Given the description of an element on the screen output the (x, y) to click on. 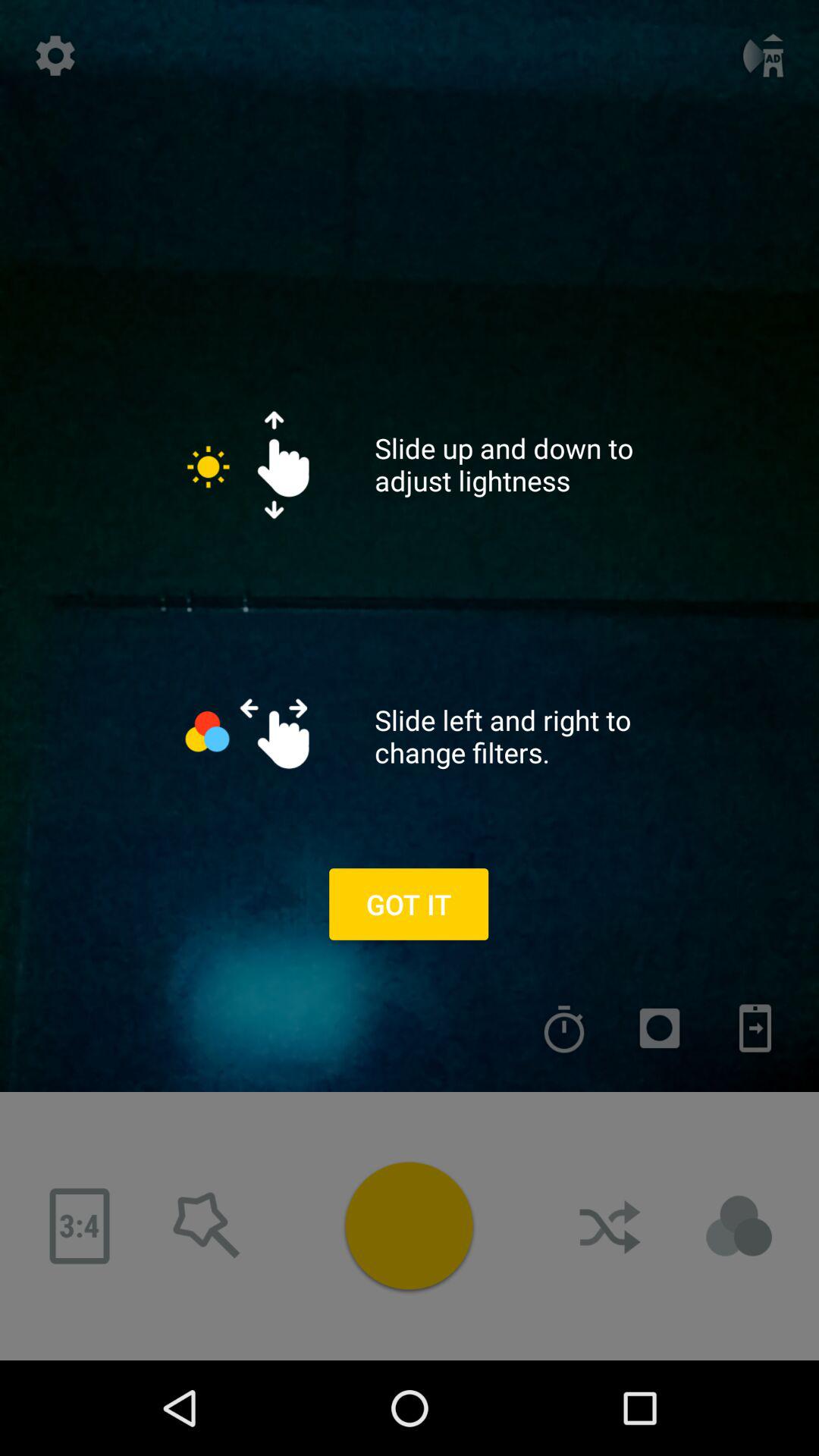
charge page (755, 1028)
